Given the description of an element on the screen output the (x, y) to click on. 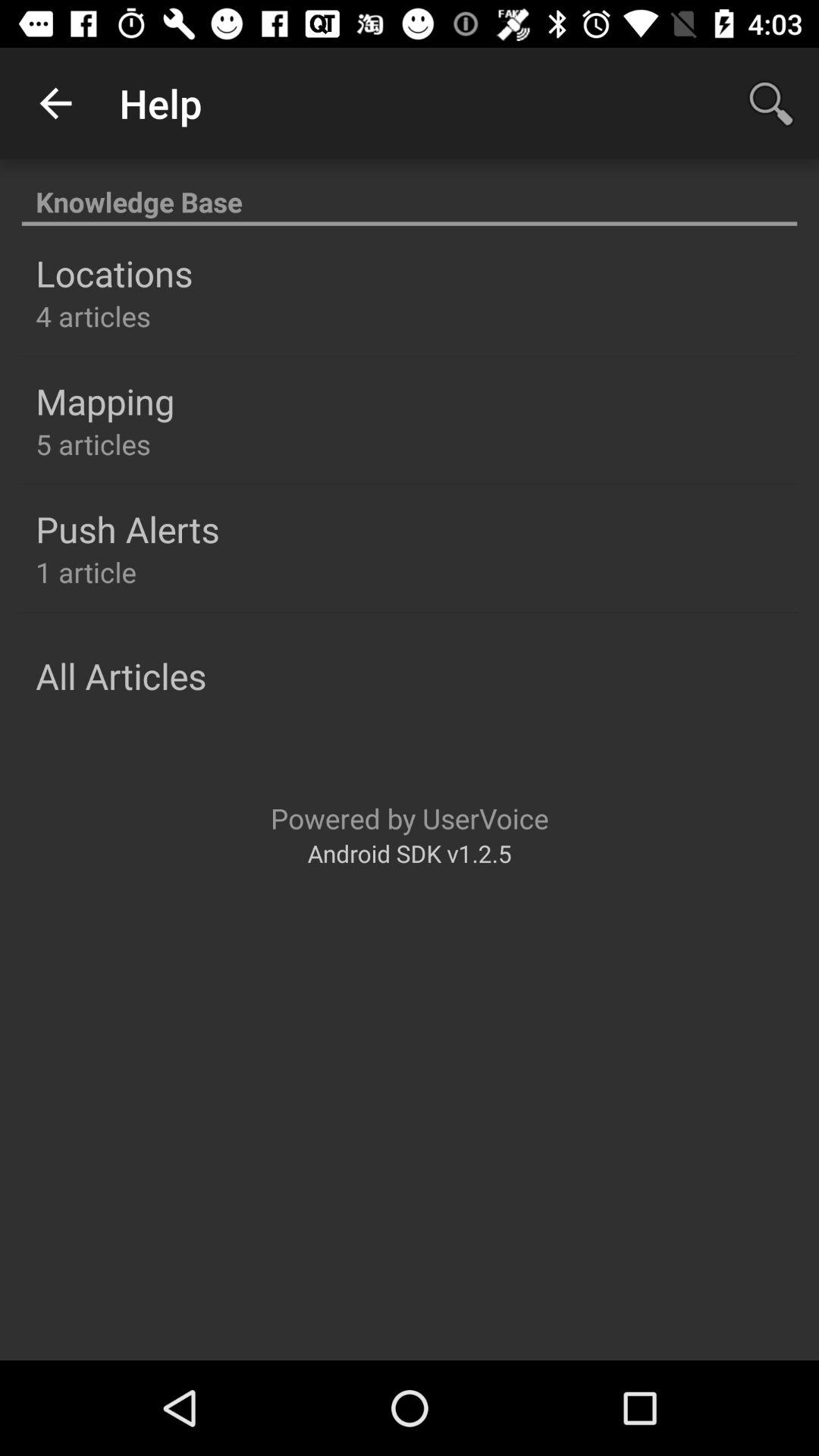
select the icon below push alerts item (85, 571)
